Given the description of an element on the screen output the (x, y) to click on. 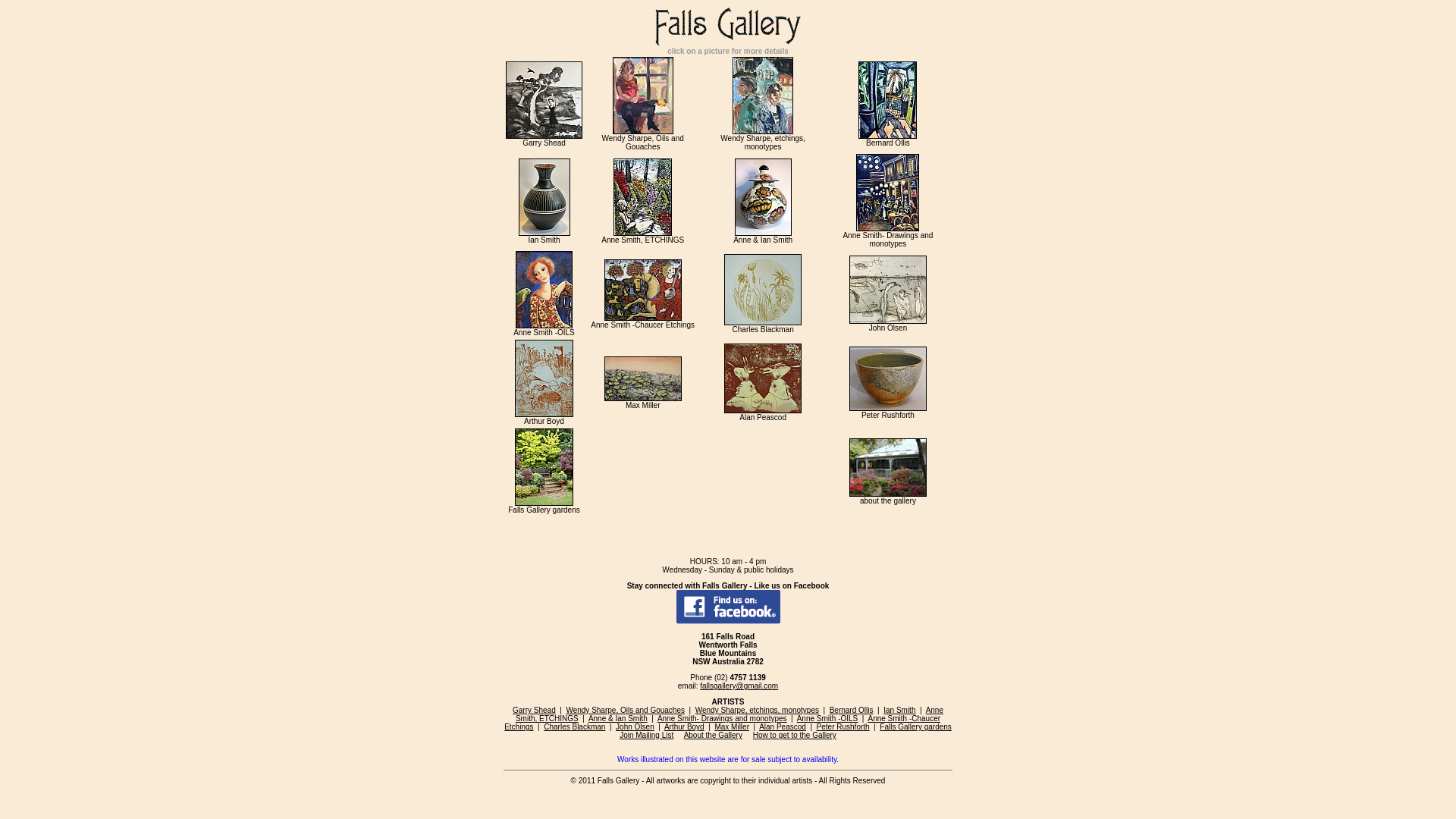
Anne & Ian Smith Element type: text (617, 718)
Peter Rushforth Element type: text (842, 726)
Anne Smith -OILS Element type: text (827, 718)
Charles Blackman Element type: text (574, 726)
Anne Smith- Drawings and monotypes Element type: text (722, 718)
Max Miller Element type: text (731, 726)
Falls Gallery gardens Element type: text (914, 726)
Ian Smith Element type: text (899, 710)
Bernard Ollis Element type: text (851, 710)
About the Gallery Element type: text (713, 735)
Alan Peascod Element type: text (782, 726)
Anne Smith -Chaucer Etchings Element type: text (722, 722)
Anne Smith, ETCHINGS Element type: text (729, 714)
Wendy Sharpe, etchings, monotypes Element type: text (757, 710)
Wendy Sharpe, Oils and Gouaches Element type: text (624, 710)
How to get to the Gallery Element type: text (794, 735)
Garry Shead Element type: text (533, 710)
fallsgallery@gmail.com Element type: text (738, 685)
Arthur Boyd Element type: text (684, 726)
John Olsen Element type: text (634, 726)
Join Mailing List Element type: text (646, 735)
